Given the description of an element on the screen output the (x, y) to click on. 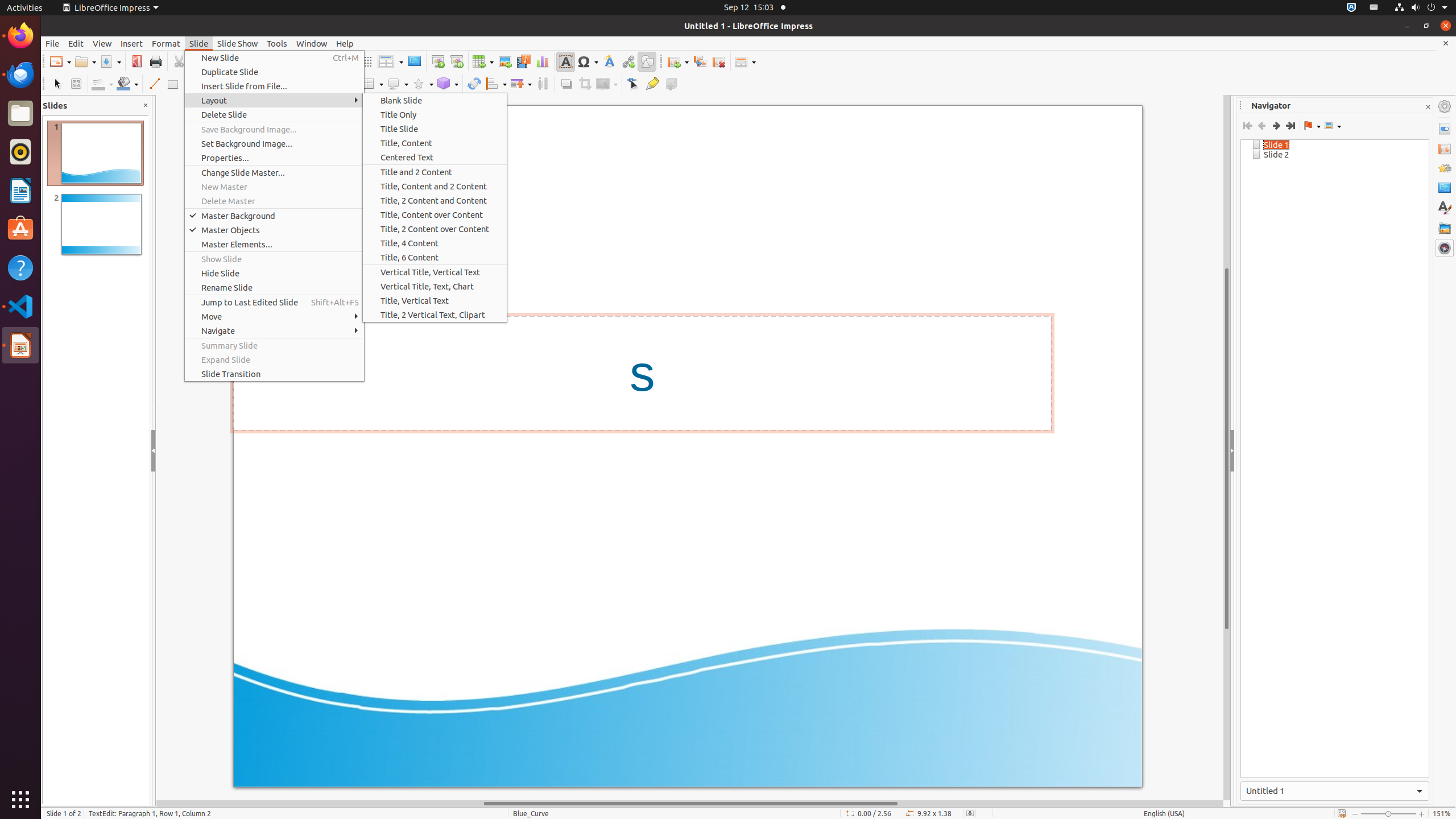
Delete Master Element type: menu-item (274, 200)
Summary Slide Element type: menu-item (274, 345)
Hide Slide Element type: menu-item (274, 273)
Duplicate Slide Element type: menu-item (274, 71)
